Given the description of an element on the screen output the (x, y) to click on. 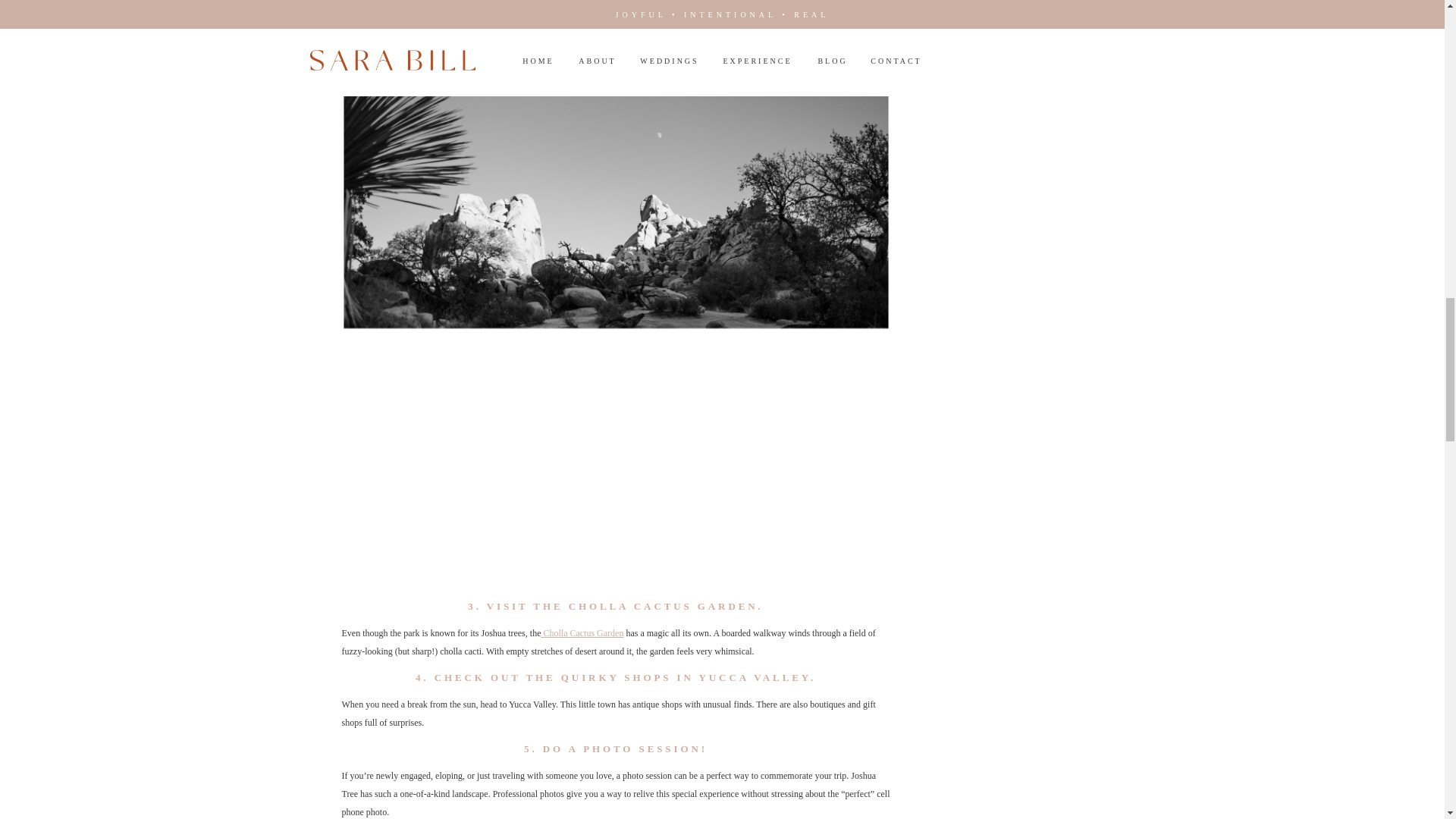
Cholla Cactus Garden (581, 633)
